Given the description of an element on the screen output the (x, y) to click on. 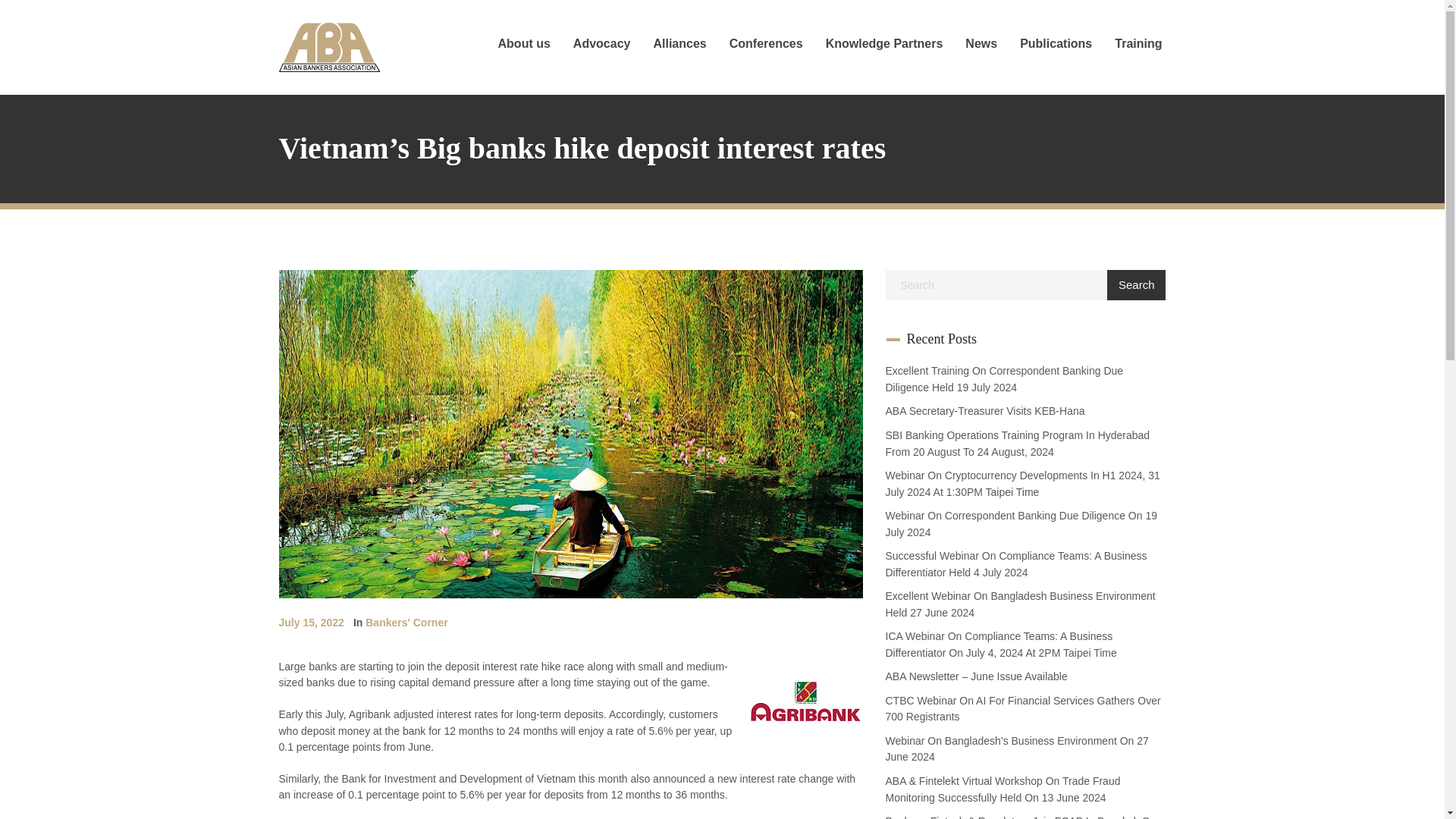
Knowledge Partners (884, 44)
Knowledge Partners (884, 44)
July 15, 2022 (311, 622)
Conferences (765, 44)
Advocacy (601, 44)
Alliances (679, 44)
Search (1136, 285)
Search (1136, 285)
News (980, 44)
About us (524, 44)
ABA Secretary-Treasurer Visits KEB-Hana (984, 410)
About us (524, 44)
Advocacy (601, 44)
